Given the description of an element on the screen output the (x, y) to click on. 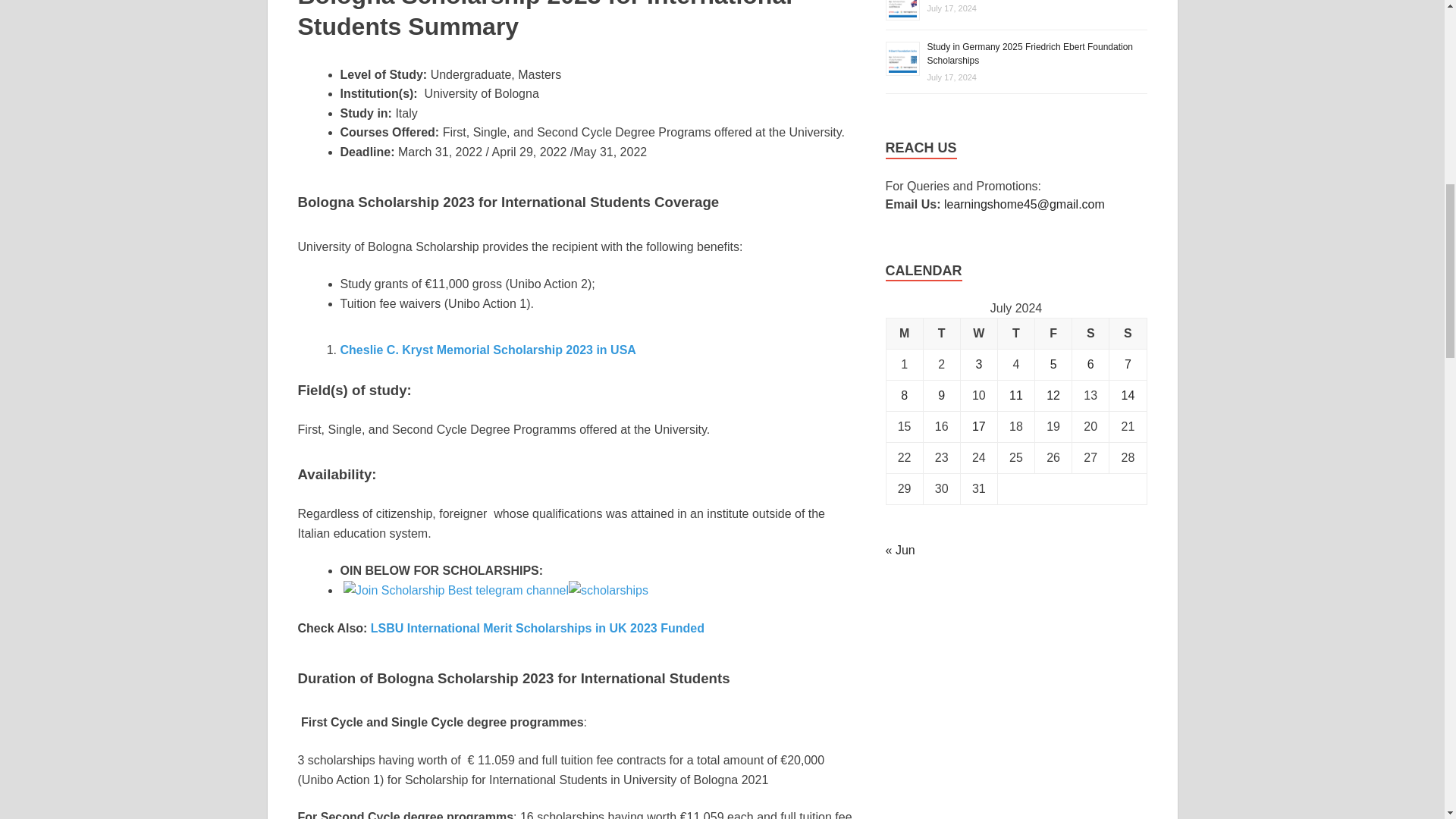
Cheslie C. Kryst Memorial Scholarship 2023 in USA (486, 349)
Monday (904, 333)
LSBU International Merit Scholarships in UK 2023 Funded (537, 627)
